Given the description of an element on the screen output the (x, y) to click on. 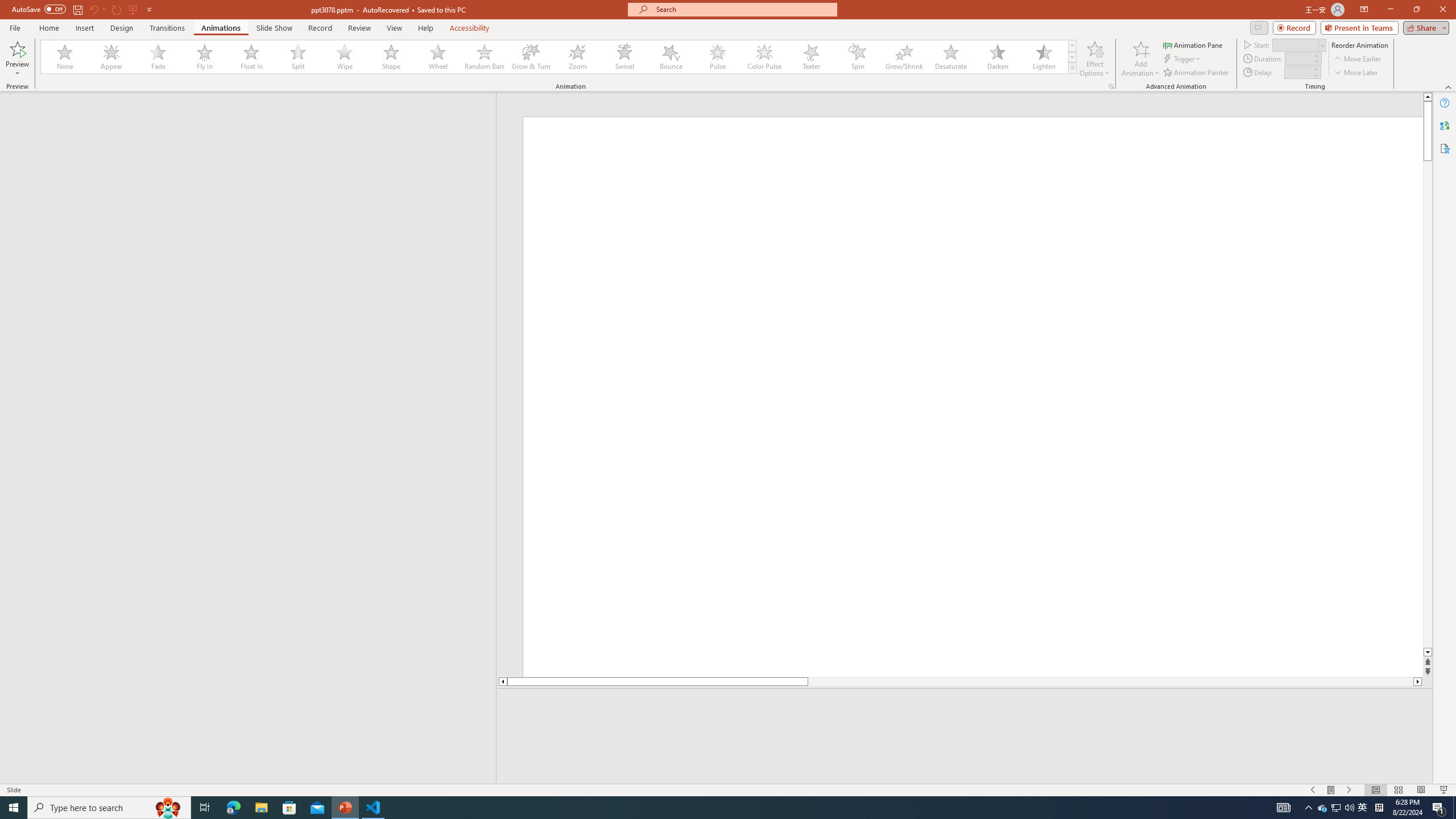
Fly In (205, 56)
Slide Show Next On (1349, 790)
Animation Painter (1196, 72)
Animation Delay (1297, 72)
